Given the description of an element on the screen output the (x, y) to click on. 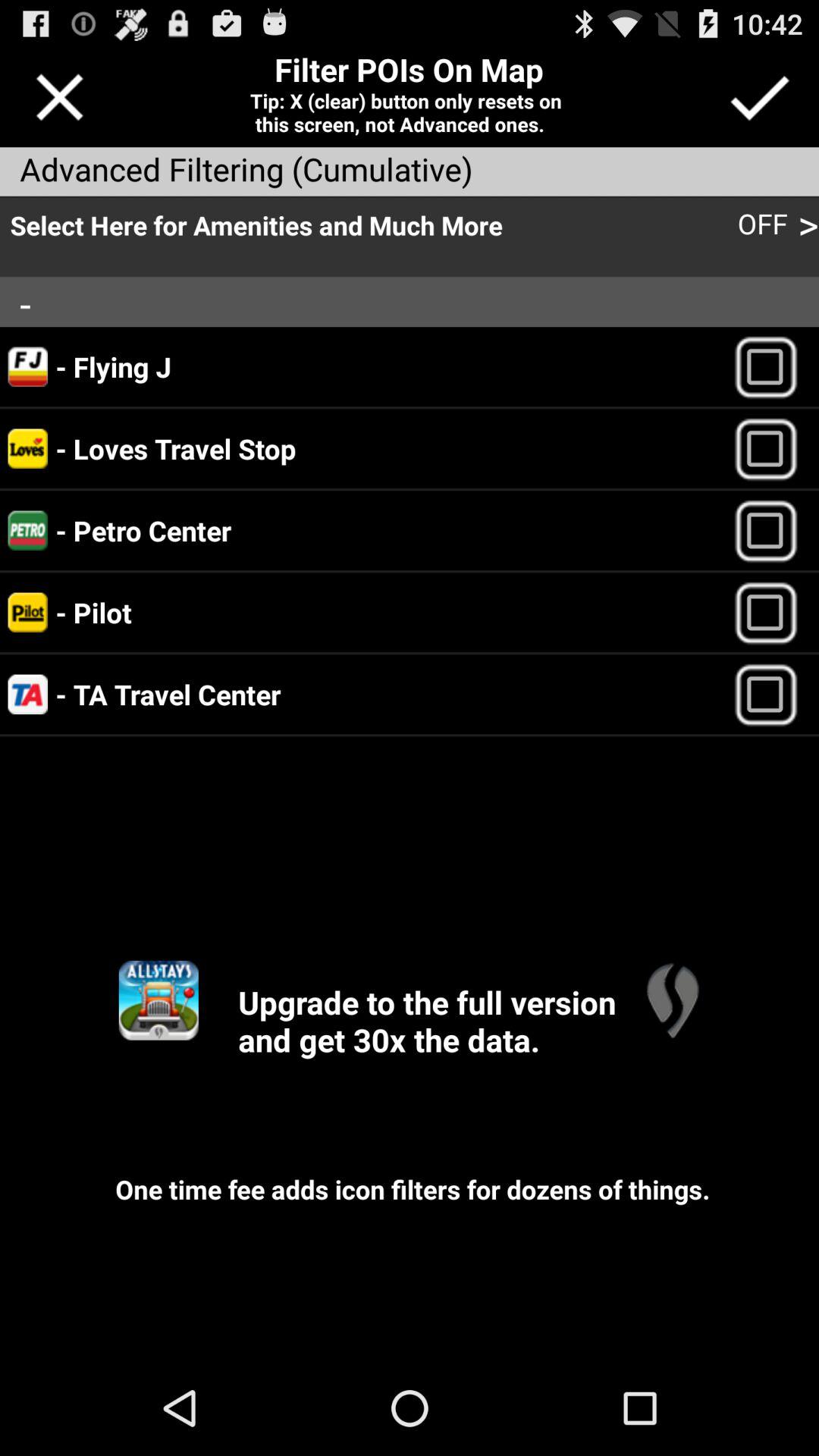
all maps upgrade (158, 1000)
